Given the description of an element on the screen output the (x, y) to click on. 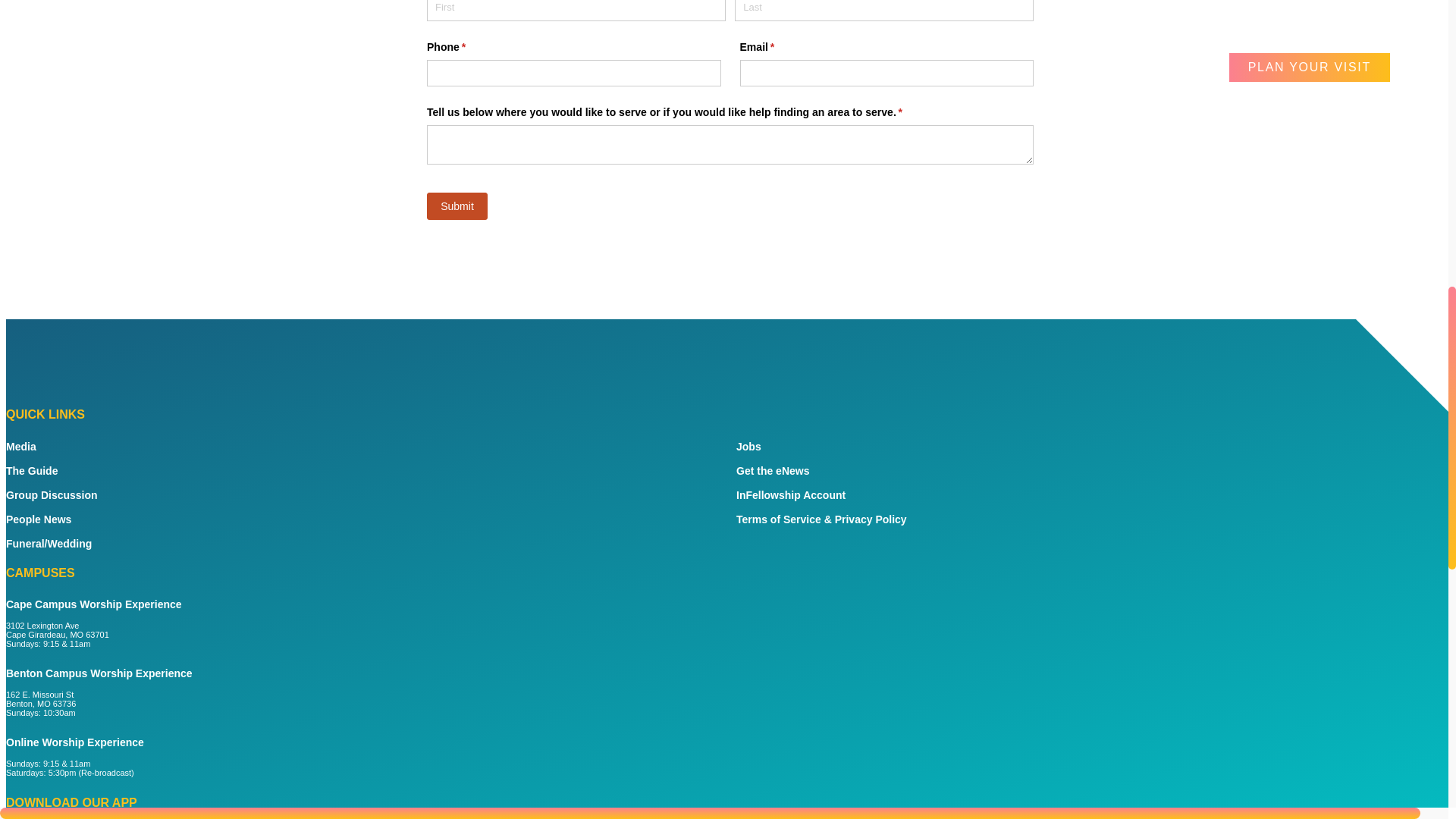
Last (884, 10)
First (575, 10)
